Given the description of an element on the screen output the (x, y) to click on. 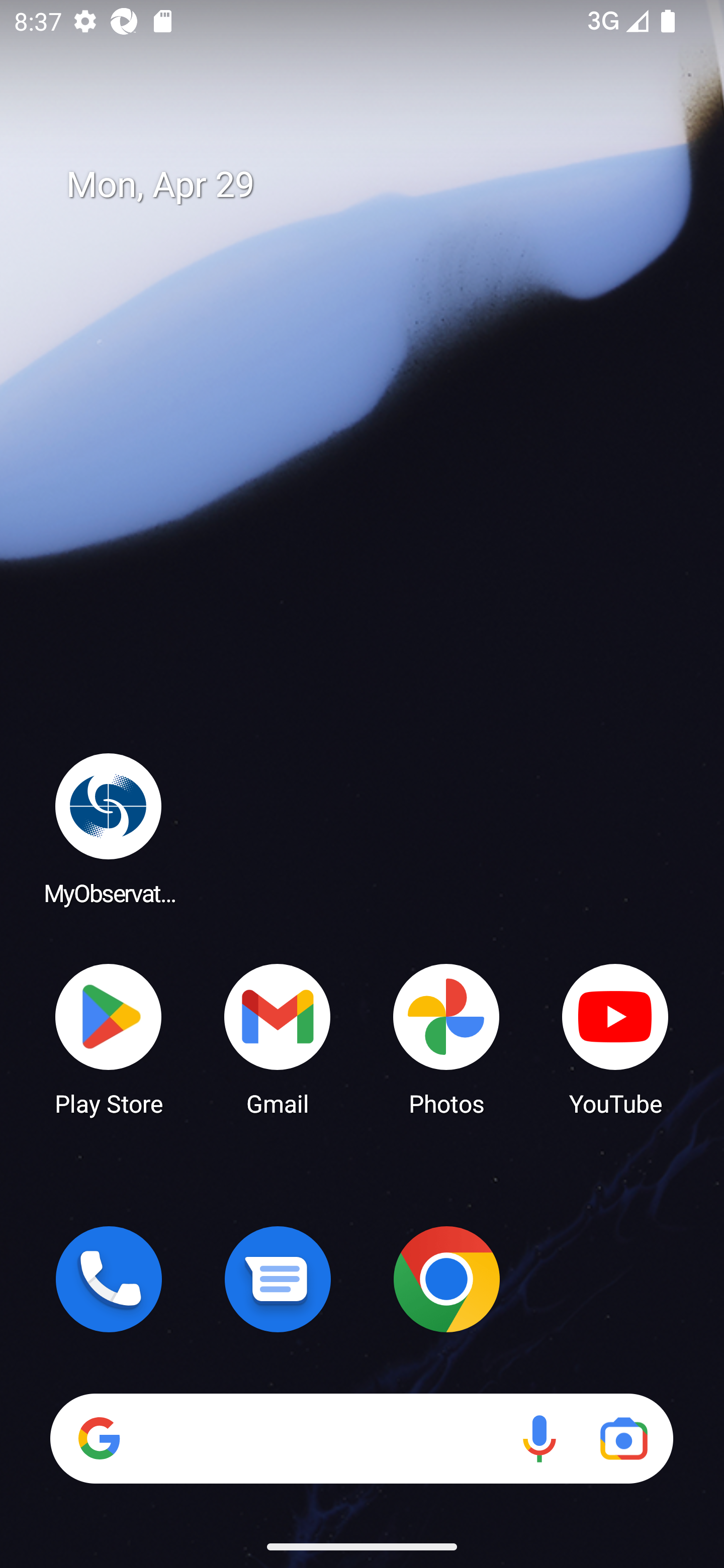
Mon, Apr 29 (375, 184)
MyObservatory (108, 828)
Play Store (108, 1038)
Gmail (277, 1038)
Photos (445, 1038)
YouTube (615, 1038)
Phone (108, 1279)
Messages (277, 1279)
Chrome (446, 1279)
Voice search (539, 1438)
Google Lens (623, 1438)
